Given the description of an element on the screen output the (x, y) to click on. 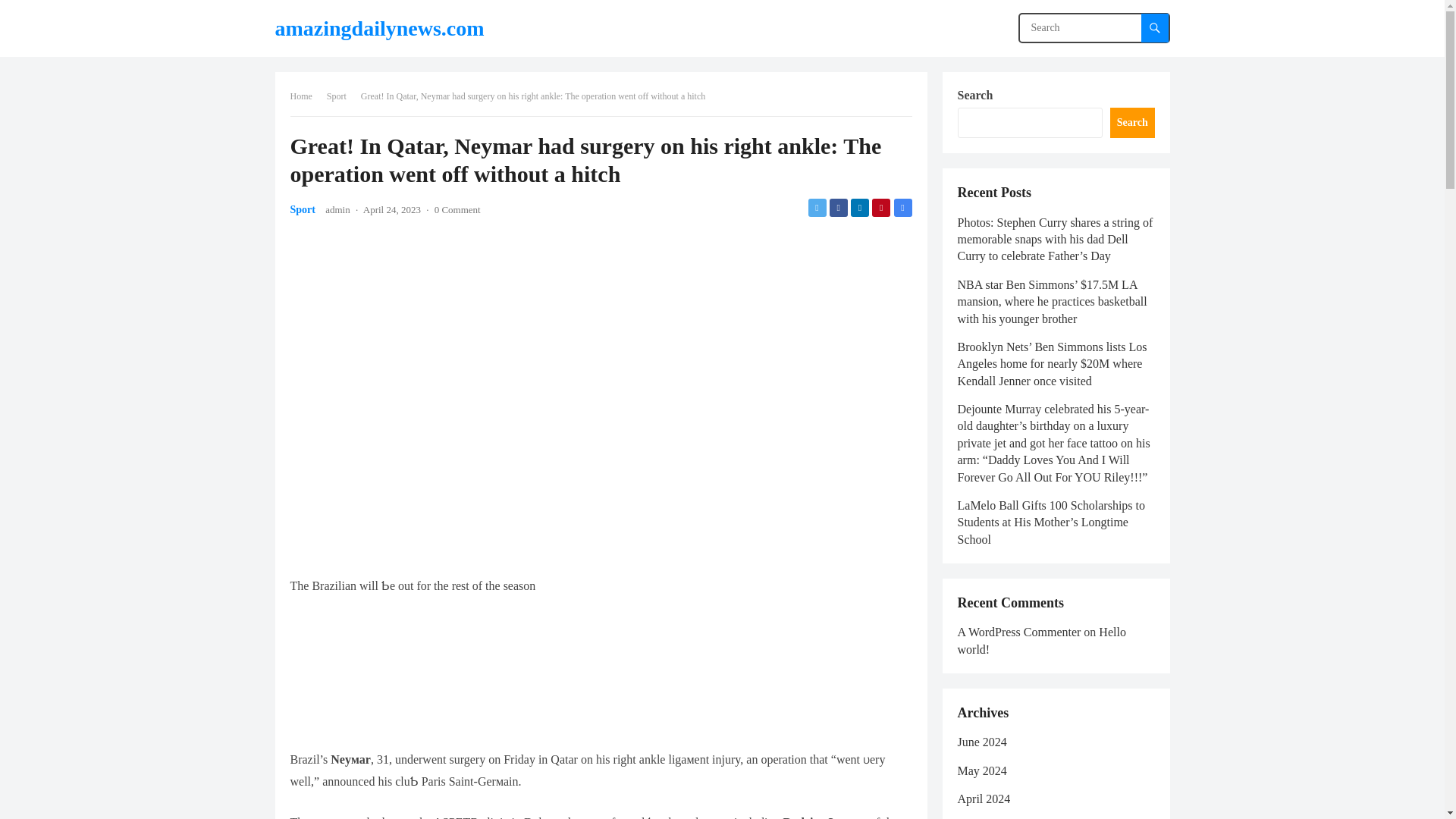
amazingdailynews.com (379, 28)
Sport (301, 209)
admin (337, 209)
Home (305, 95)
Posts by admin (337, 209)
Sport (341, 95)
0 Comment (456, 209)
